Given the description of an element on the screen output the (x, y) to click on. 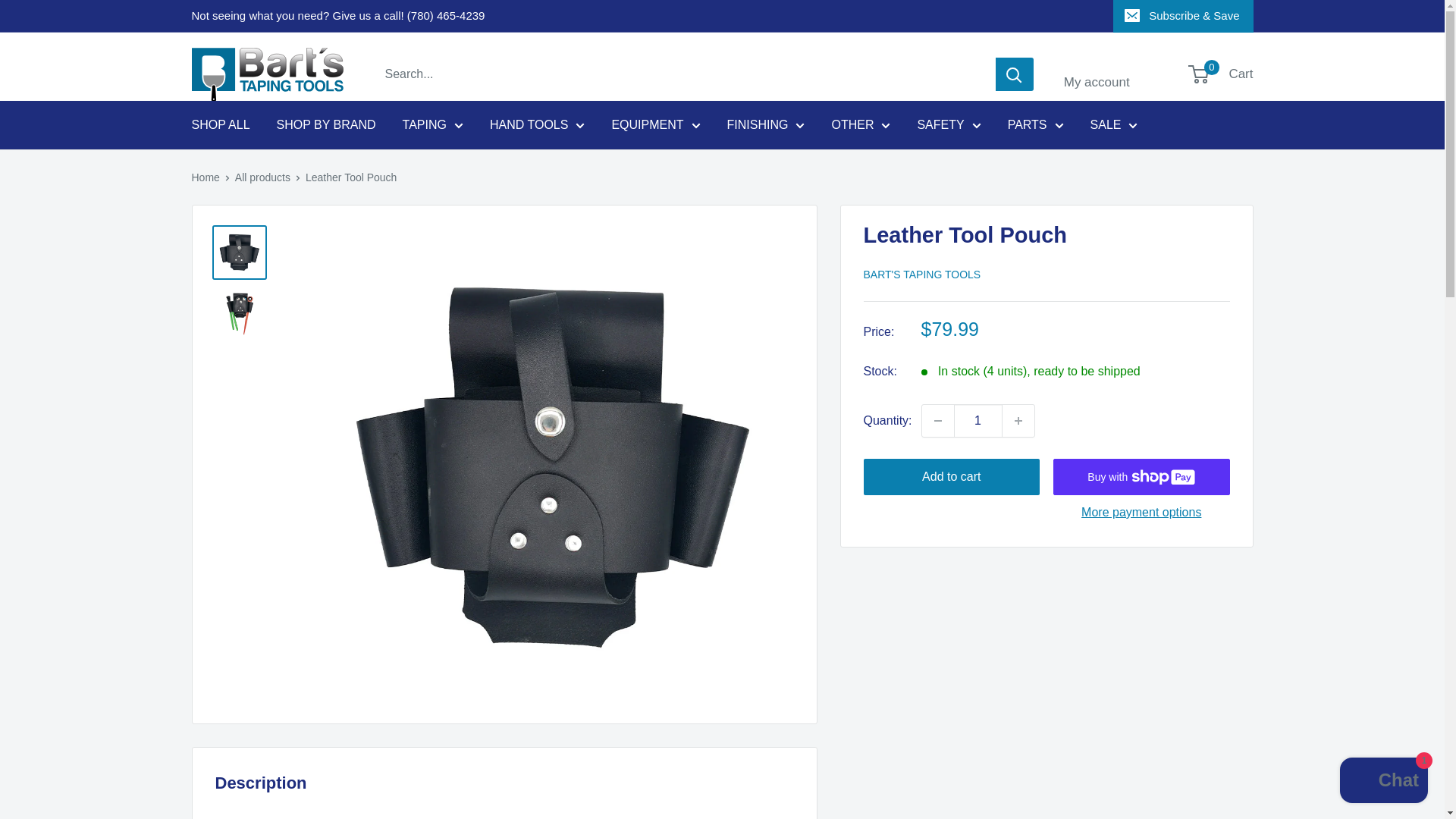
Increase quantity by 1 (1018, 420)
1 (978, 420)
Shopify online store chat (1383, 781)
Decrease quantity by 1 (937, 420)
